Given the description of an element on the screen output the (x, y) to click on. 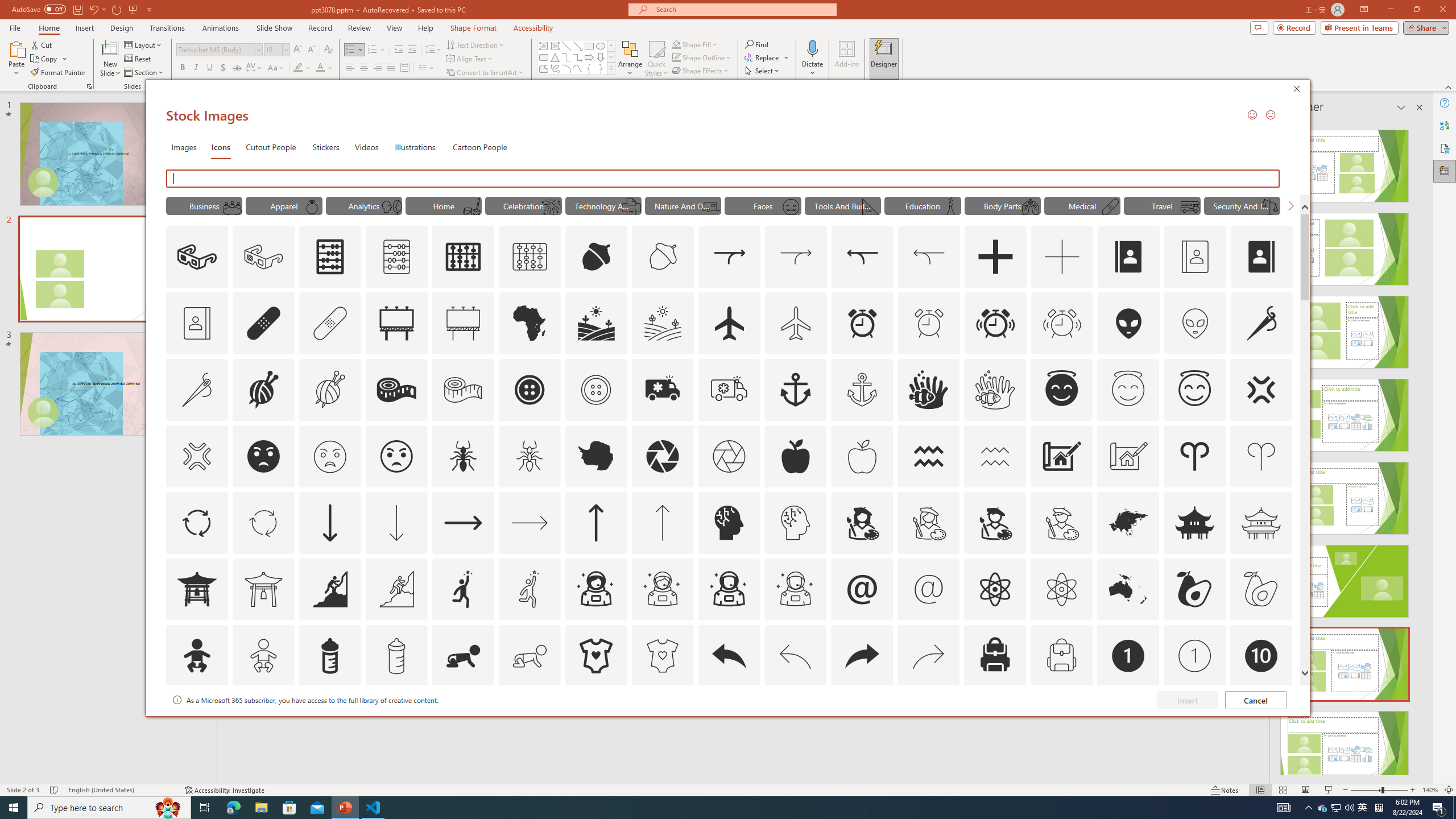
Videos (366, 146)
AutomationID: Icons_Fireworks_M (551, 206)
